Given the description of an element on the screen output the (x, y) to click on. 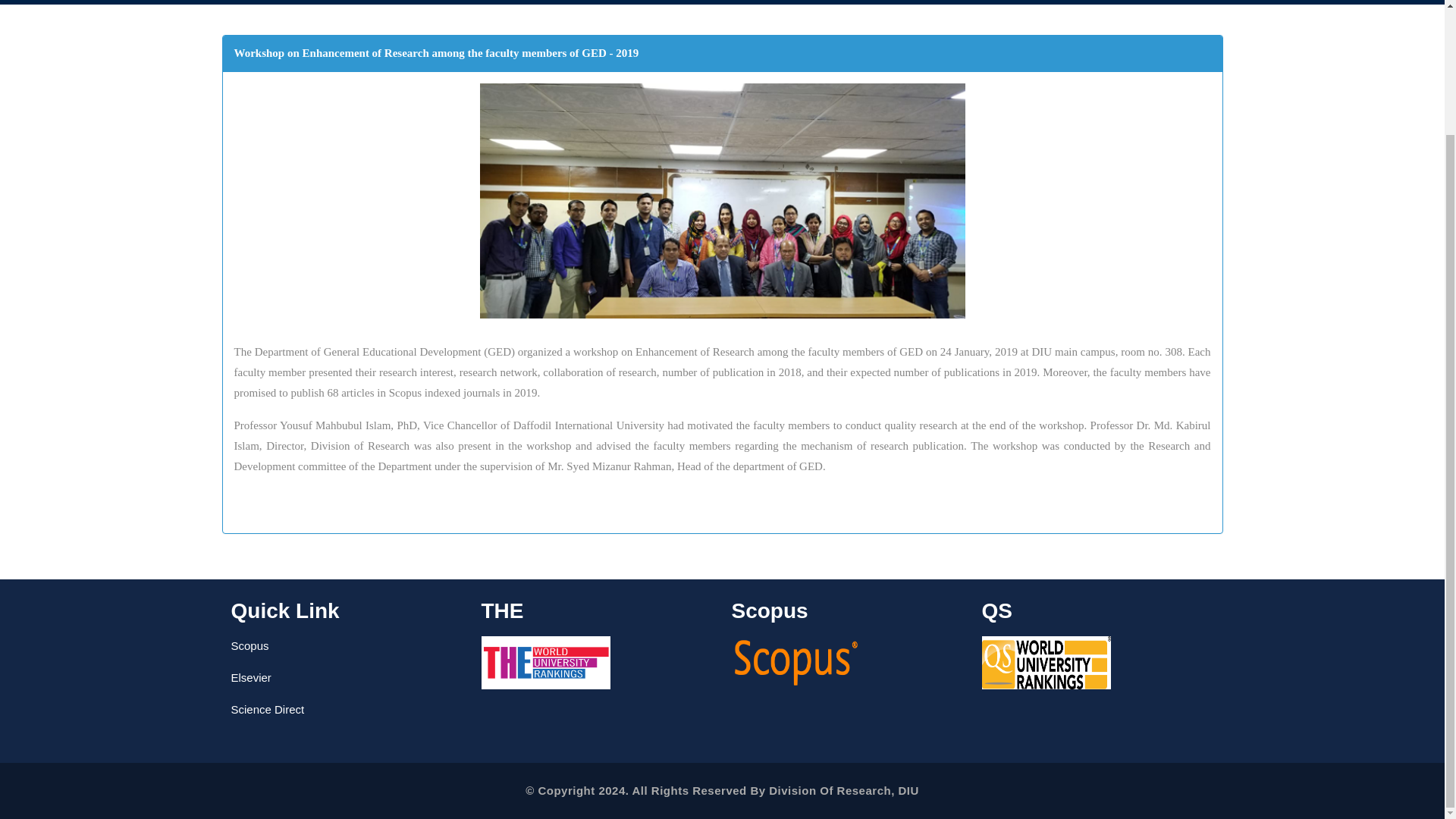
Elsevier (250, 676)
Science Direct (267, 708)
DIU (908, 789)
Scopus (248, 645)
fourteen.png (721, 200)
